Given the description of an element on the screen output the (x, y) to click on. 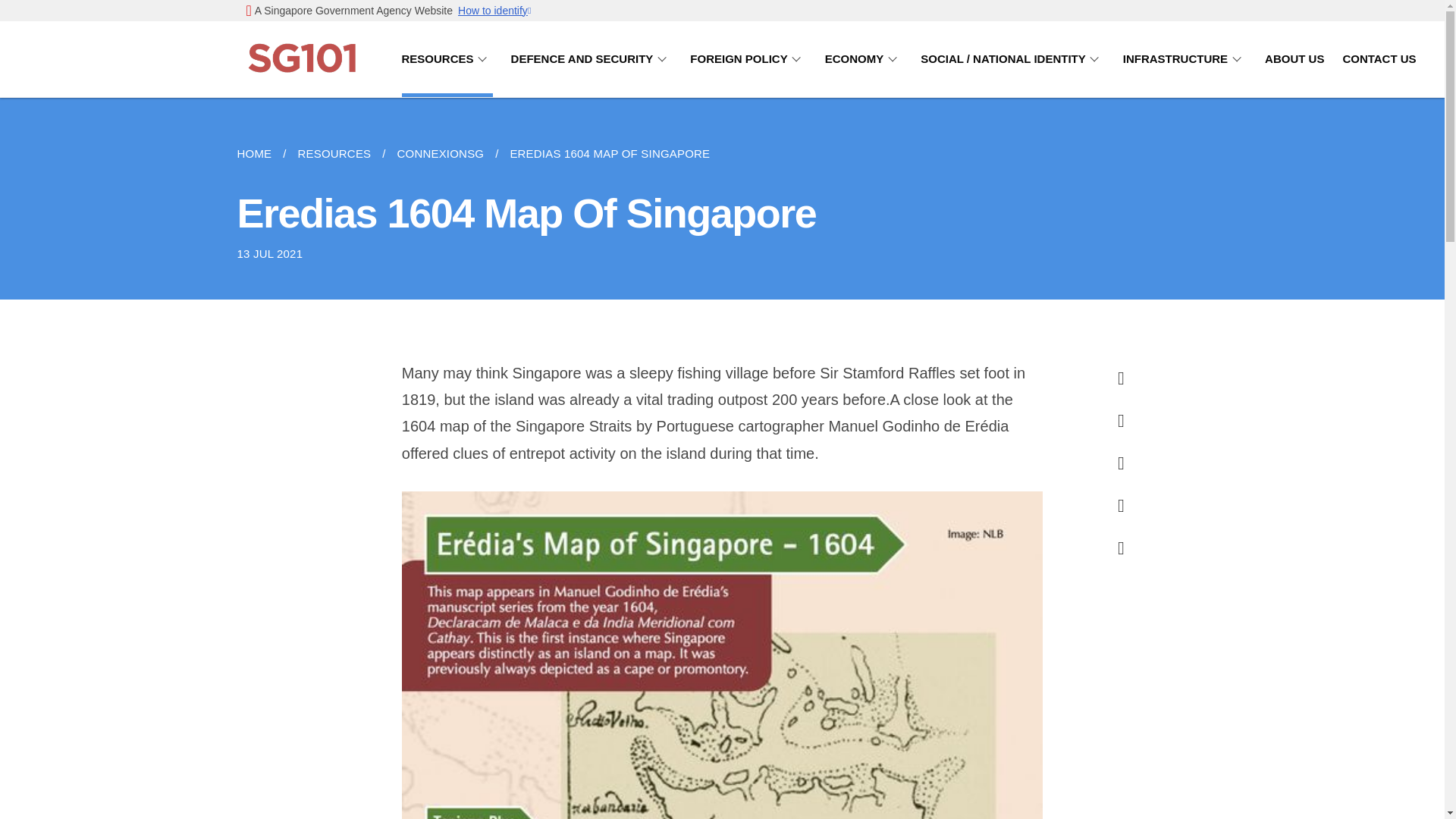
DEFENCE AND SECURITY (591, 59)
INFRASTRUCTURE (1184, 59)
ECONOMY (863, 59)
RESOURCES (447, 59)
FOREIGN POLICY (748, 59)
